Given the description of an element on the screen output the (x, y) to click on. 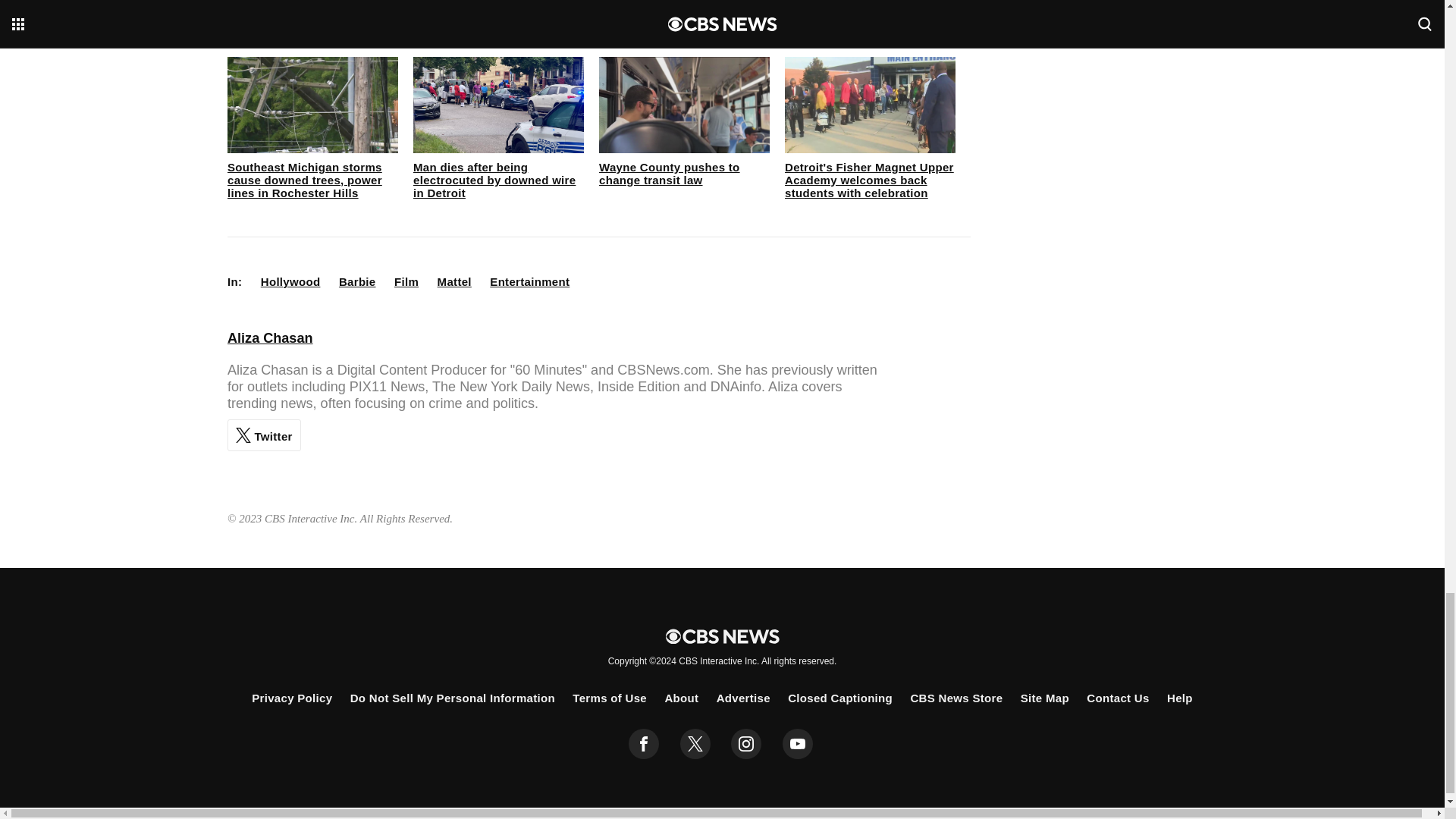
instagram (745, 743)
youtube (797, 743)
facebook (643, 743)
twitter (694, 743)
